Given the description of an element on the screen output the (x, y) to click on. 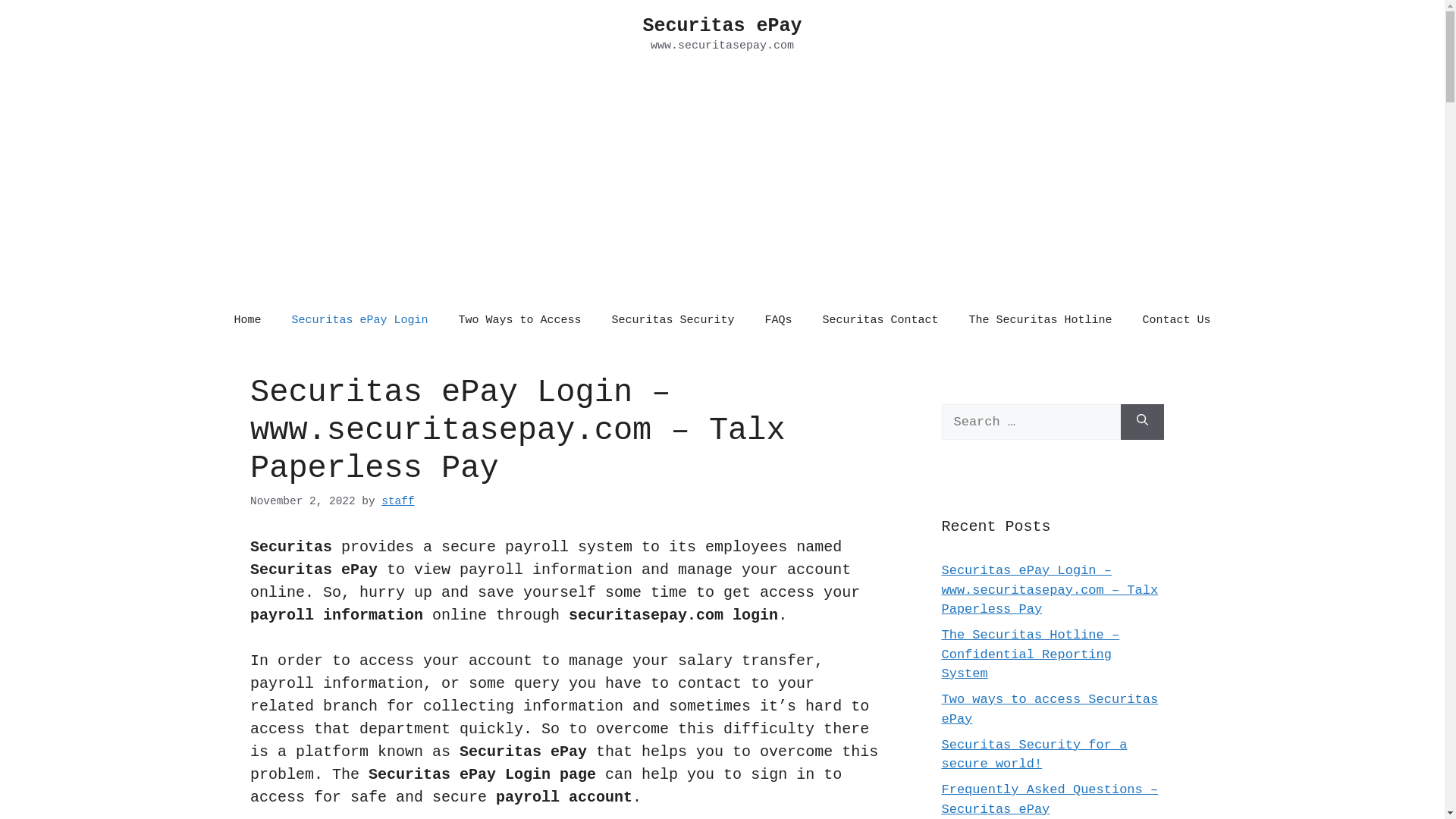
Home Element type: text (247, 319)
Contact Us Element type: text (1176, 319)
Two ways to access Securitas ePay Element type: text (1049, 709)
FAQs Element type: text (777, 319)
Advertisement Element type: hover (721, 183)
Two Ways to Access Element type: text (519, 319)
Search for: Element type: hover (1031, 421)
Securitas ePay Element type: text (721, 26)
The Securitas Hotline Element type: text (1040, 319)
Securitas Security Element type: text (672, 319)
Securitas Security for a secure world! Element type: text (1034, 754)
staff Element type: text (397, 501)
Securitas ePay Login Element type: text (359, 319)
Securitas Contact Element type: text (880, 319)
